Given the description of an element on the screen output the (x, y) to click on. 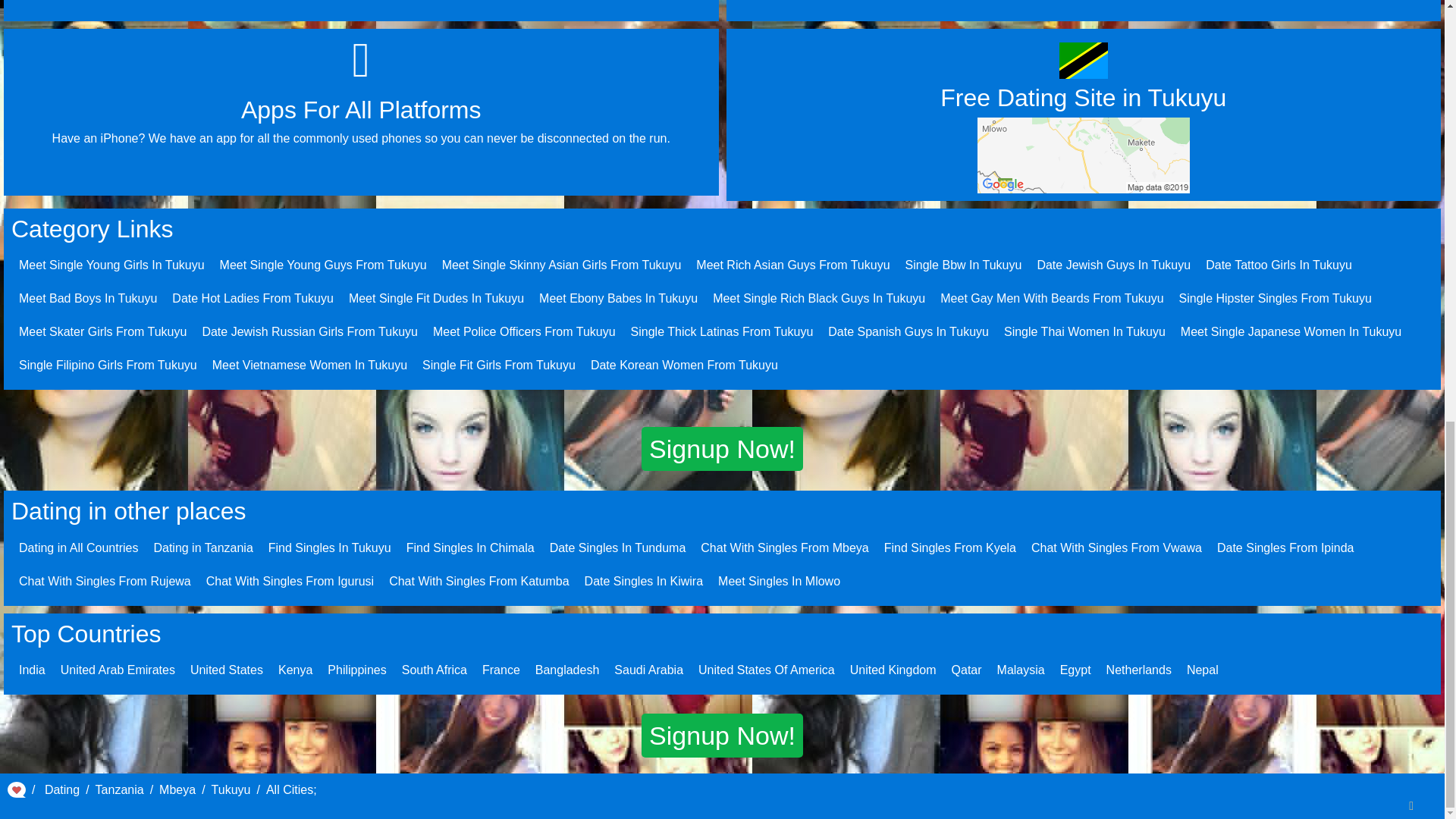
Meet Rich Asian Guys From Tukuyu (792, 264)
Meet Single Young Guys From Tukuyu (322, 264)
Meet Single Skinny Asian Girls From Tukuyu (561, 264)
Meet Single Young Girls In Tukuyu (111, 264)
